Given the description of an element on the screen output the (x, y) to click on. 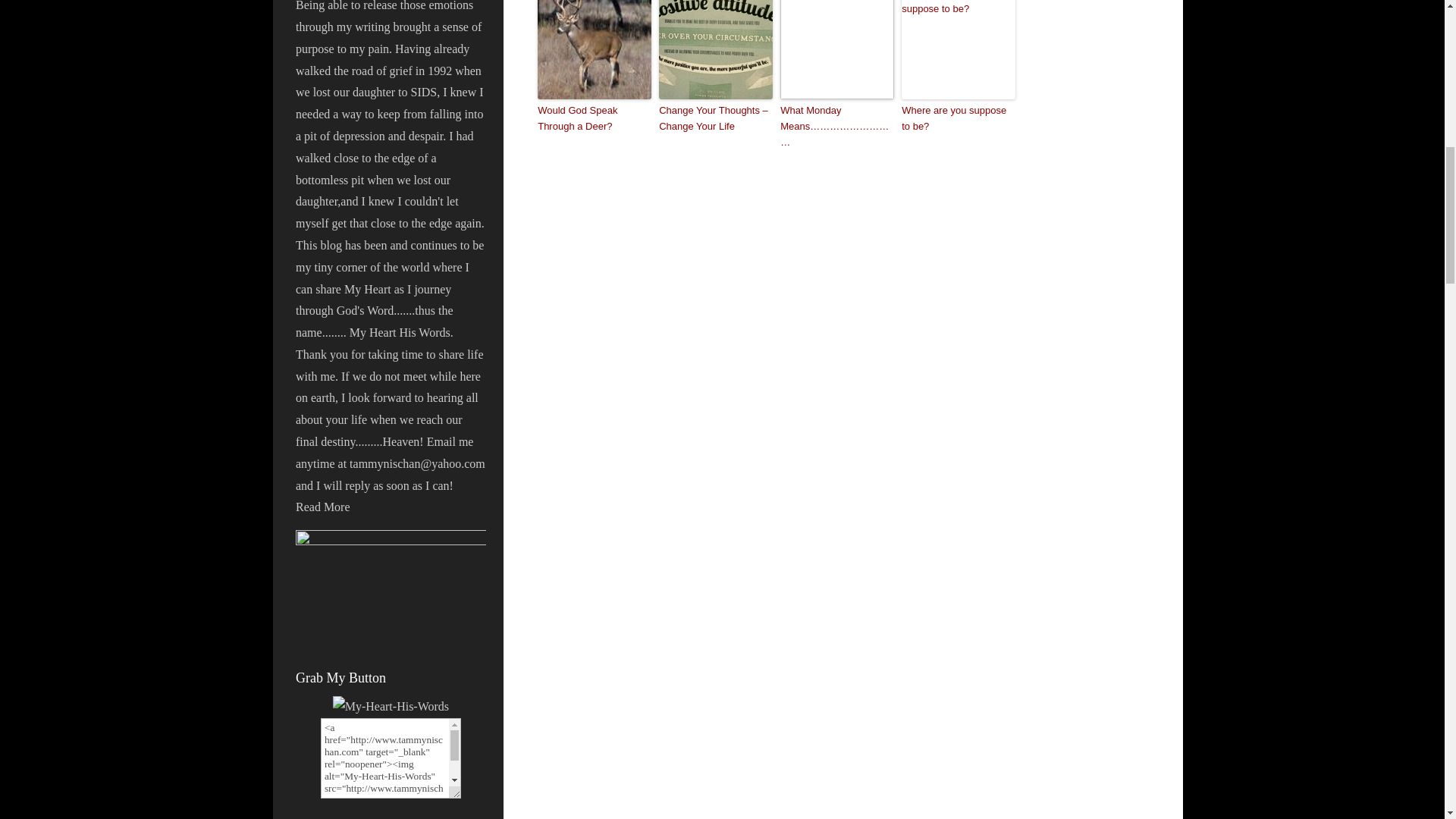
Where are you suppose to be? (957, 119)
Would God Speak Through a Deer? (593, 119)
Read More (322, 506)
